Given the description of an element on the screen output the (x, y) to click on. 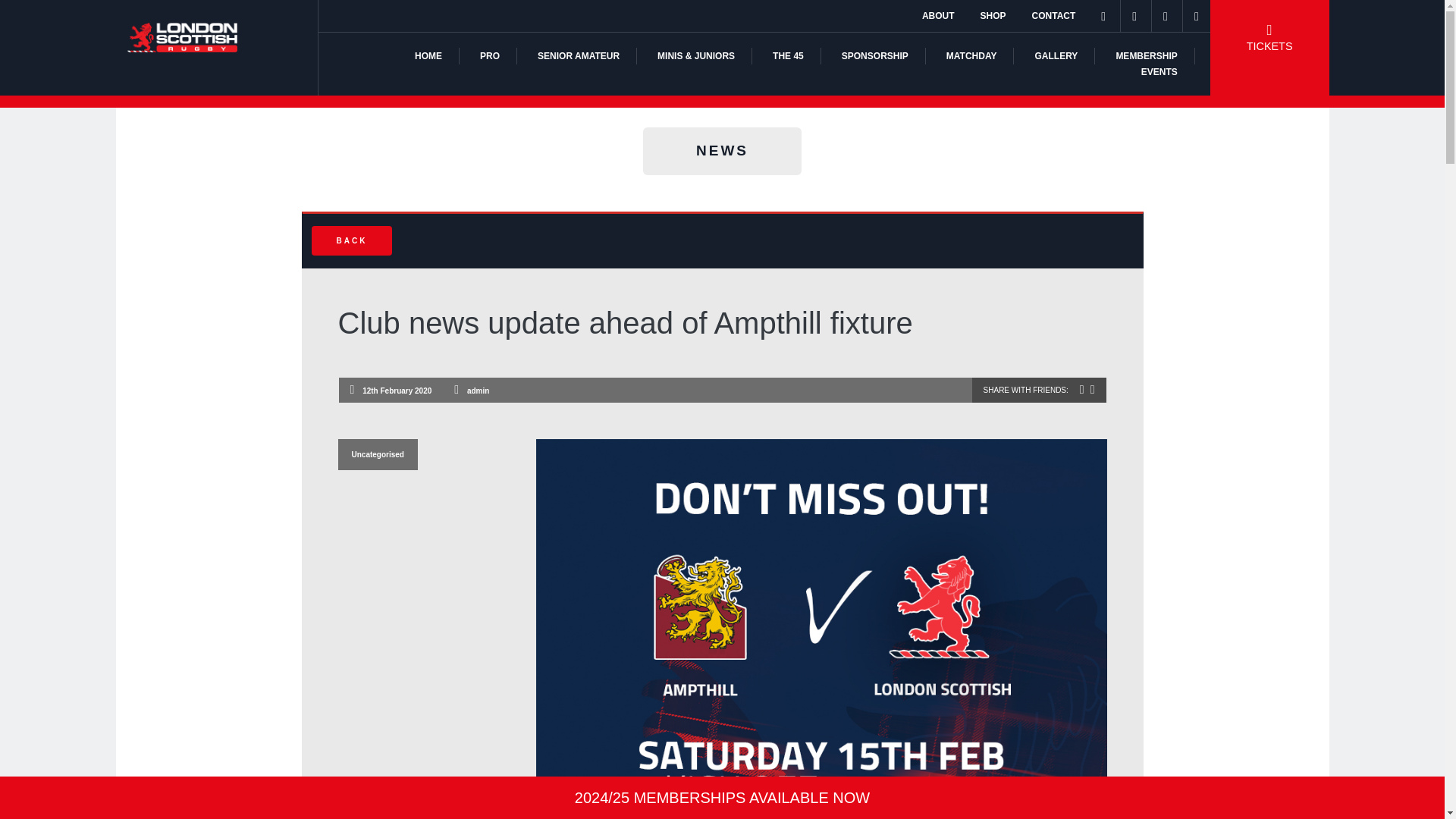
SHOP (992, 15)
CONTACT (1053, 15)
SPONSORSHIP (874, 55)
SENIOR AMATEUR (578, 55)
GALLERY (1055, 55)
MATCHDAY (971, 55)
THE 45 (788, 55)
PRO (489, 55)
HOME (428, 55)
ABOUT (938, 15)
